Given the description of an element on the screen output the (x, y) to click on. 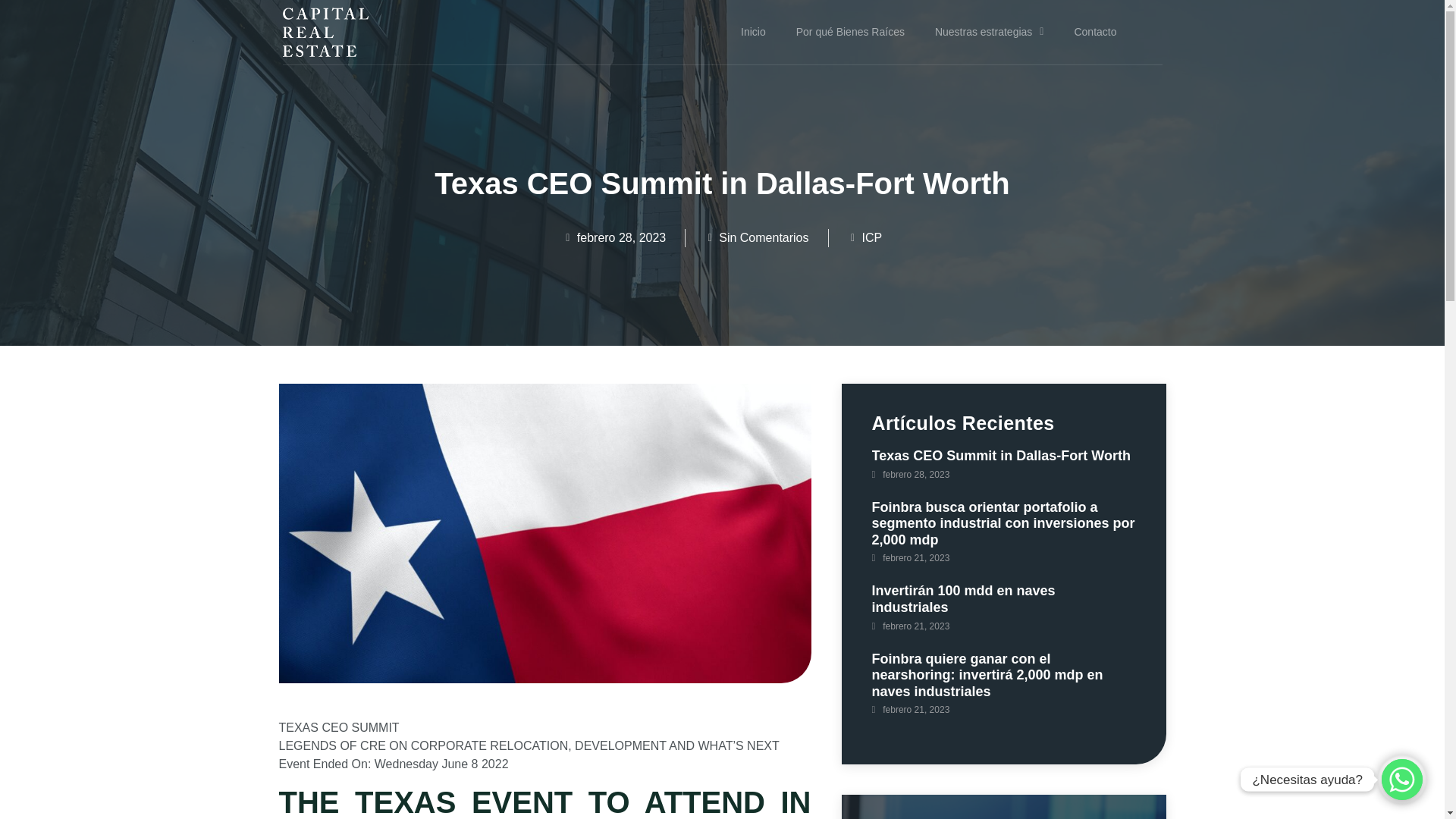
ICP (1025, 472)
Contacto (871, 237)
febrero 28, 2023 (1094, 31)
Nuestras estrategias (613, 238)
Sin Comentarios (989, 31)
Inicio (756, 238)
